Given the description of an element on the screen output the (x, y) to click on. 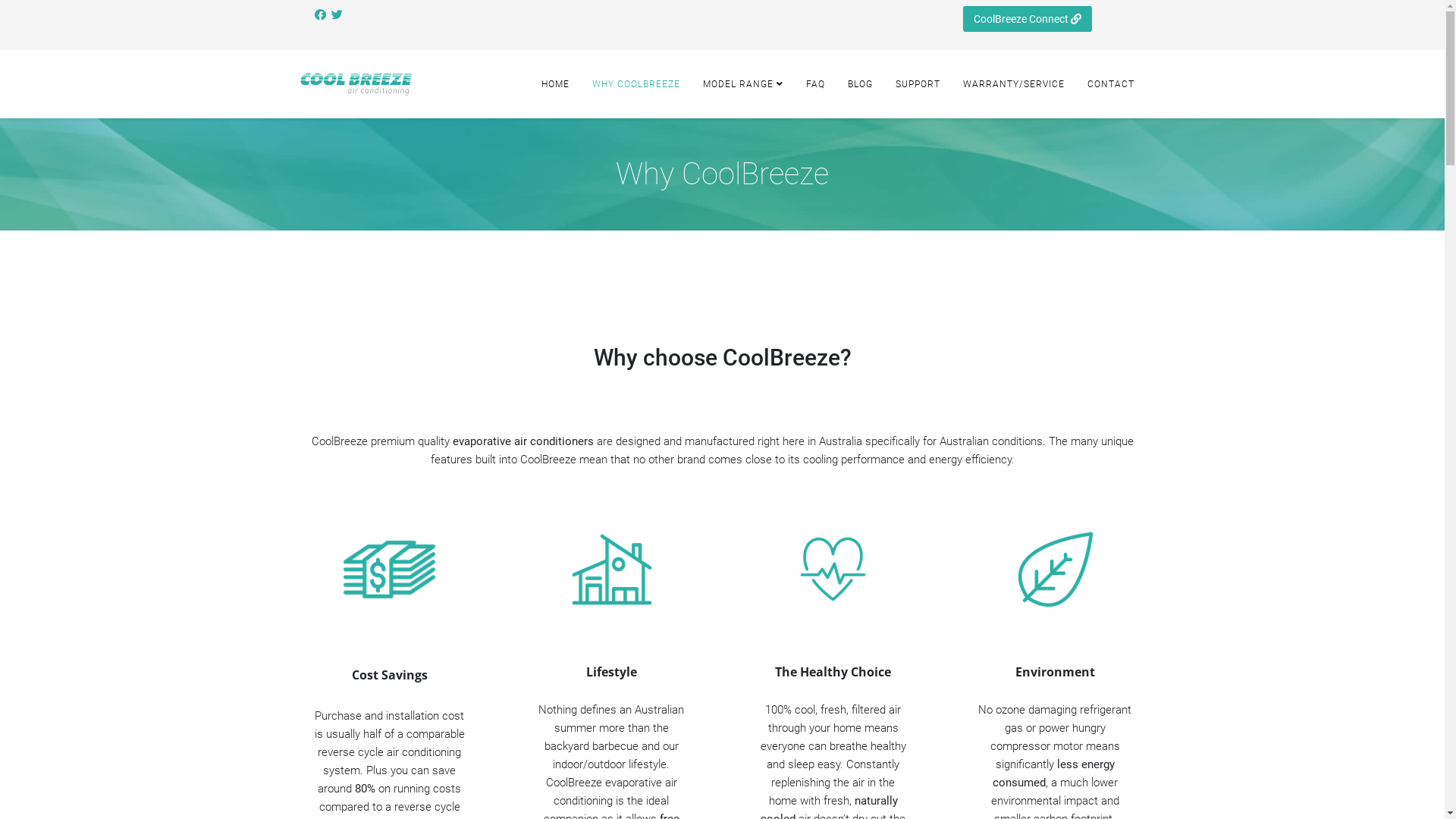
  Element type: text (320, 14)
CONTACT Element type: text (1110, 84)
HOME Element type: text (554, 84)
MODEL RANGE Element type: text (742, 84)
WHY COOLBREEZE Element type: text (635, 84)
WARRANTY/SERVICE Element type: text (1012, 84)
  Element type: text (338, 14)
CoolBreeze Connect Element type: text (1027, 18)
BLOG Element type: text (859, 84)
SUPPORT Element type: text (917, 84)
FAQ Element type: text (815, 84)
